Given the description of an element on the screen output the (x, y) to click on. 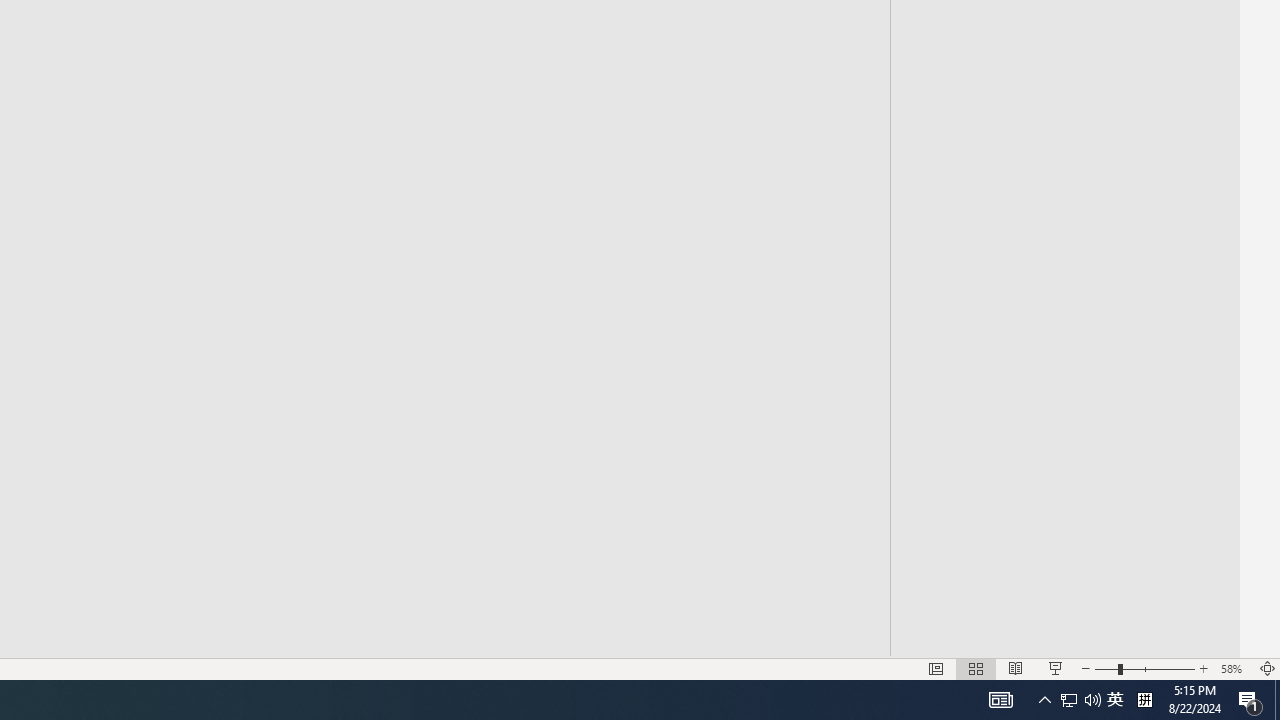
Zoom 58% (1234, 668)
